Given the description of an element on the screen output the (x, y) to click on. 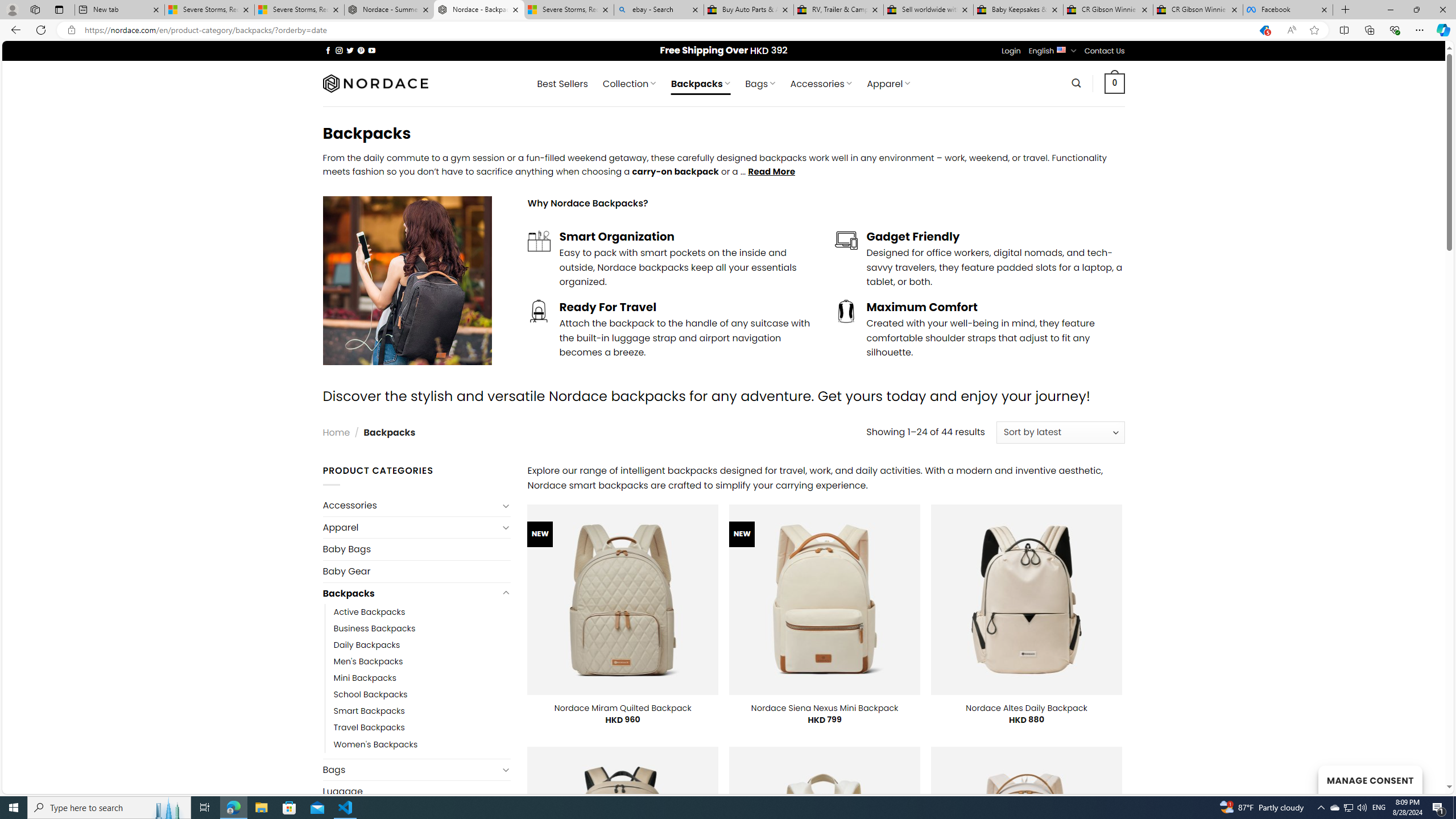
Baby Gear (416, 570)
Accessories (410, 505)
Mini Backpacks (422, 678)
  0   (1115, 83)
Travel Backpacks (368, 727)
Nordace Miram Quilted Backpack (622, 708)
Baby Keepsakes & Announcements for sale | eBay (1018, 9)
